Given the description of an element on the screen output the (x, y) to click on. 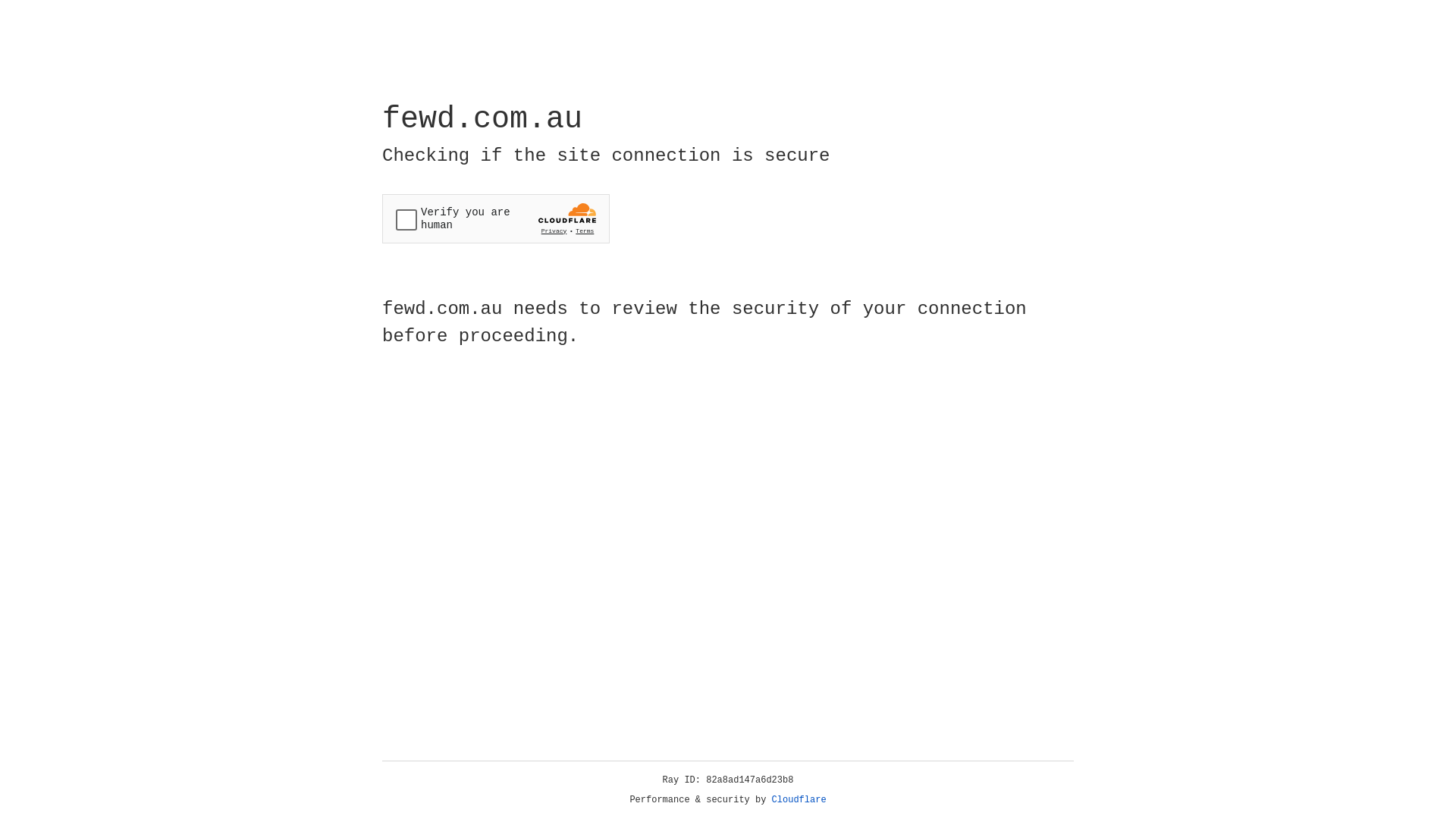
Cloudflare Element type: text (798, 799)
Widget containing a Cloudflare security challenge Element type: hover (495, 218)
